Given the description of an element on the screen output the (x, y) to click on. 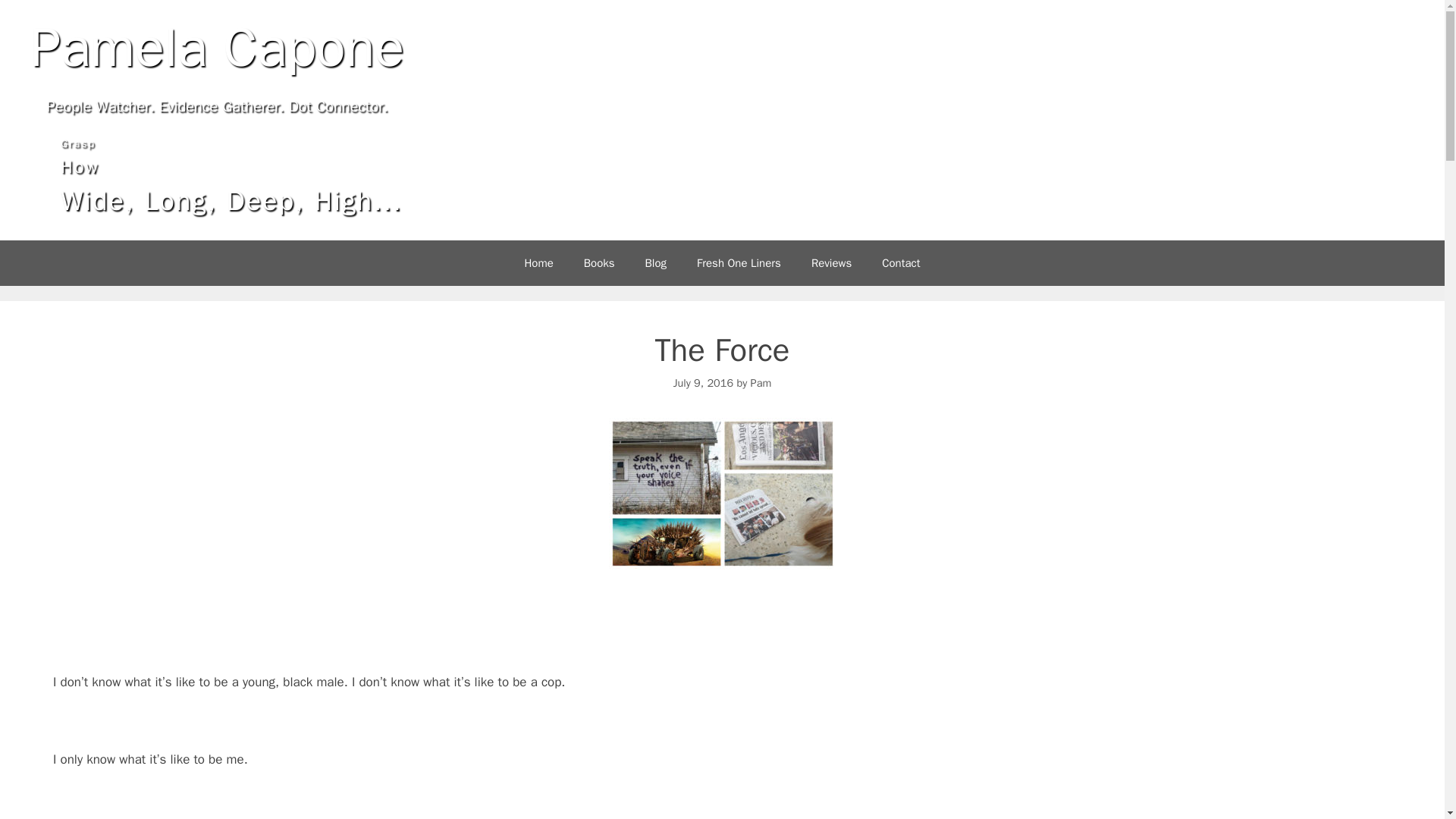
View all posts by Pam (761, 382)
Home (537, 262)
Blog (655, 262)
Books (599, 262)
Fresh One Liners (738, 262)
Reviews (831, 262)
Contact (900, 262)
Pam (761, 382)
